Given the description of an element on the screen output the (x, y) to click on. 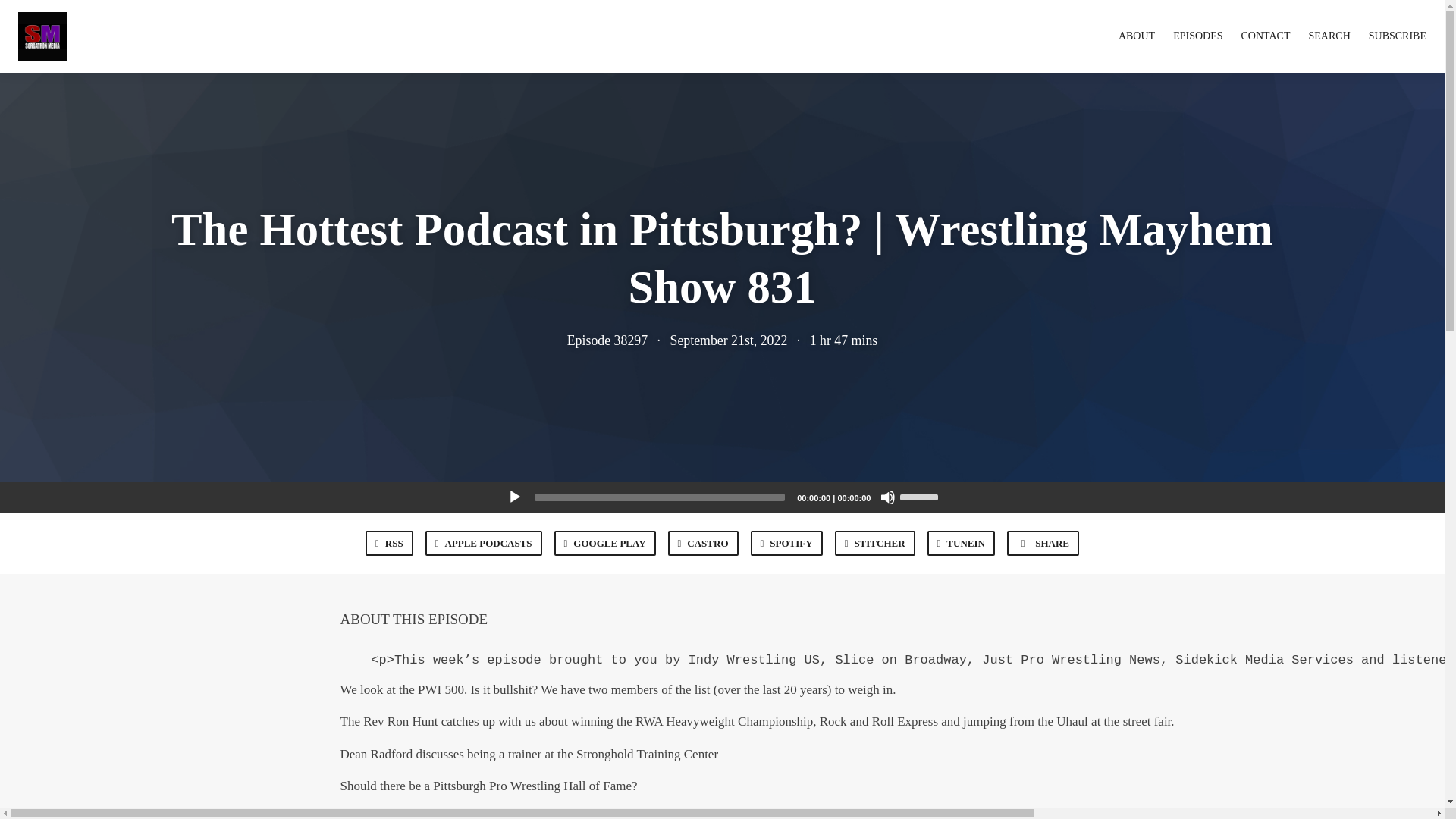
STITCHER (874, 543)
TUNEIN (960, 543)
Mute (887, 497)
EPISODES (1198, 35)
CONTACT (1265, 35)
Play (513, 497)
APPLE PODCASTS (483, 543)
GOOGLE PLAY (605, 543)
CASTRO (703, 543)
RSS (389, 543)
